Given the description of an element on the screen output the (x, y) to click on. 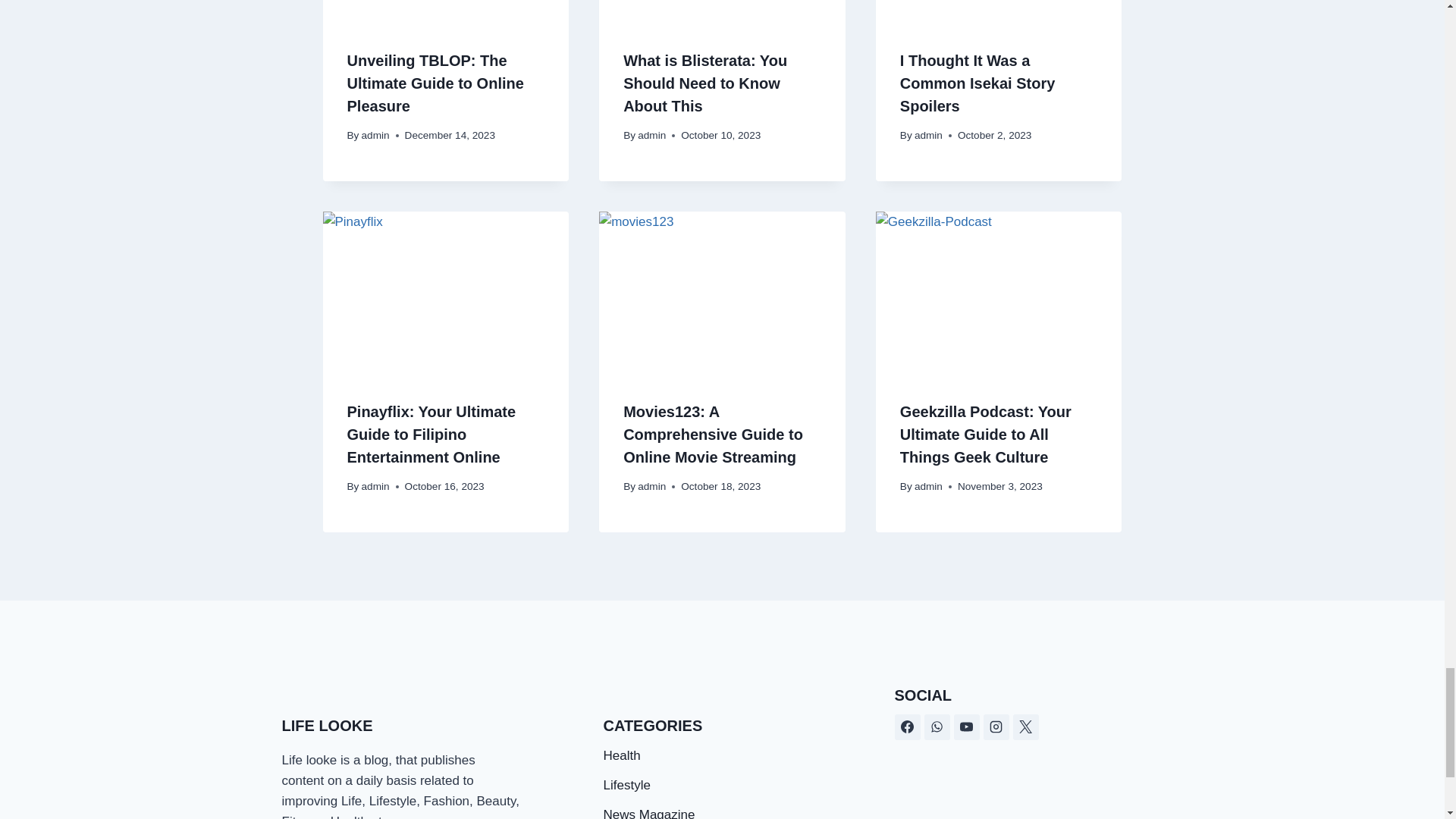
admin (651, 486)
Unveiling TBLOP: The Ultimate Guide to Online Pleasure (435, 83)
admin (375, 486)
Movies123: A Comprehensive Guide to Online Movie Streaming (713, 434)
admin (651, 134)
admin (375, 134)
What is Blisterata: You Should Need to Know About This (705, 83)
I Thought It Was a Common Isekai Story Spoilers (977, 83)
admin (928, 134)
